Given the description of an element on the screen output the (x, y) to click on. 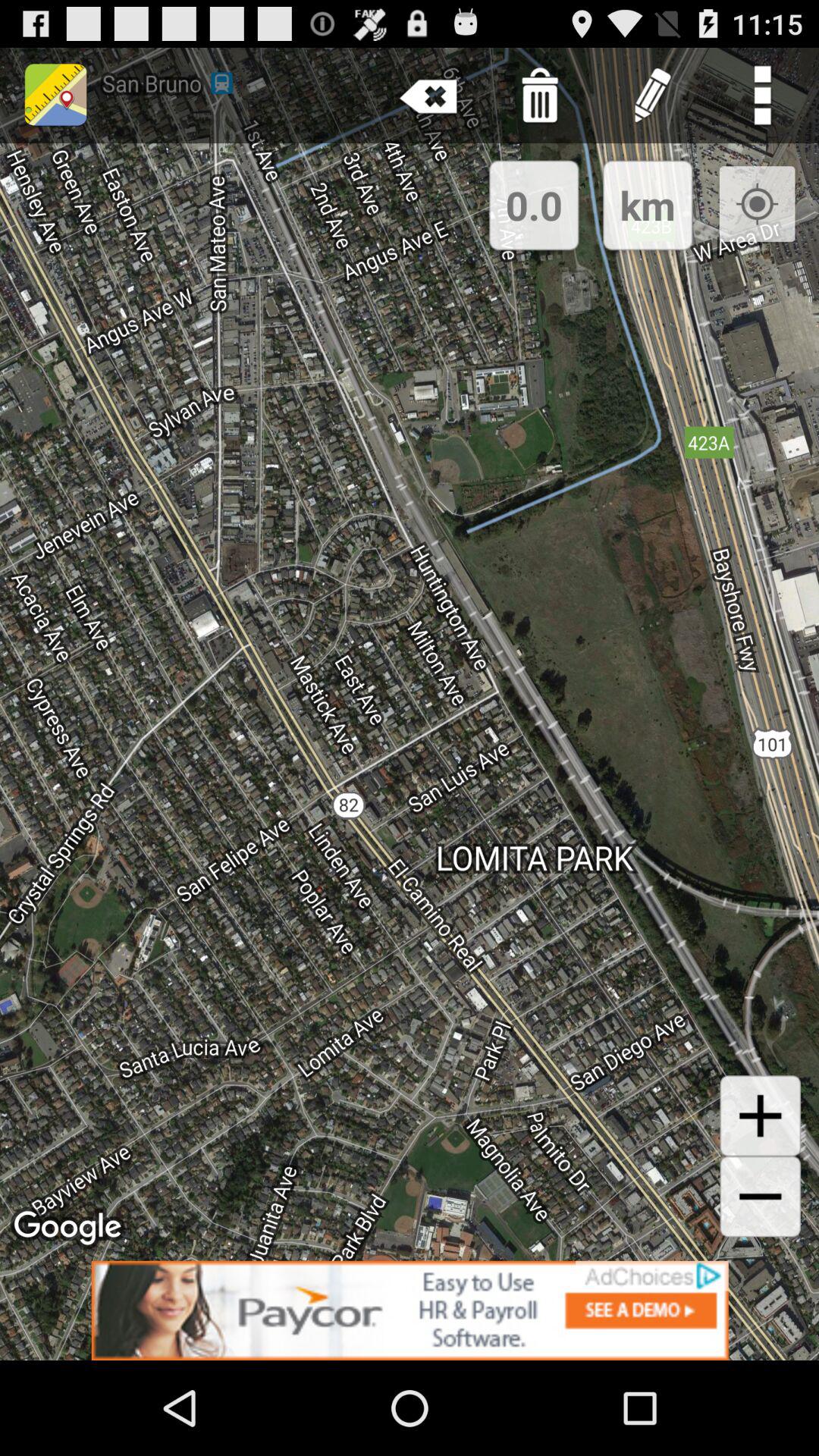
zoom out (760, 1196)
